Given the description of an element on the screen output the (x, y) to click on. 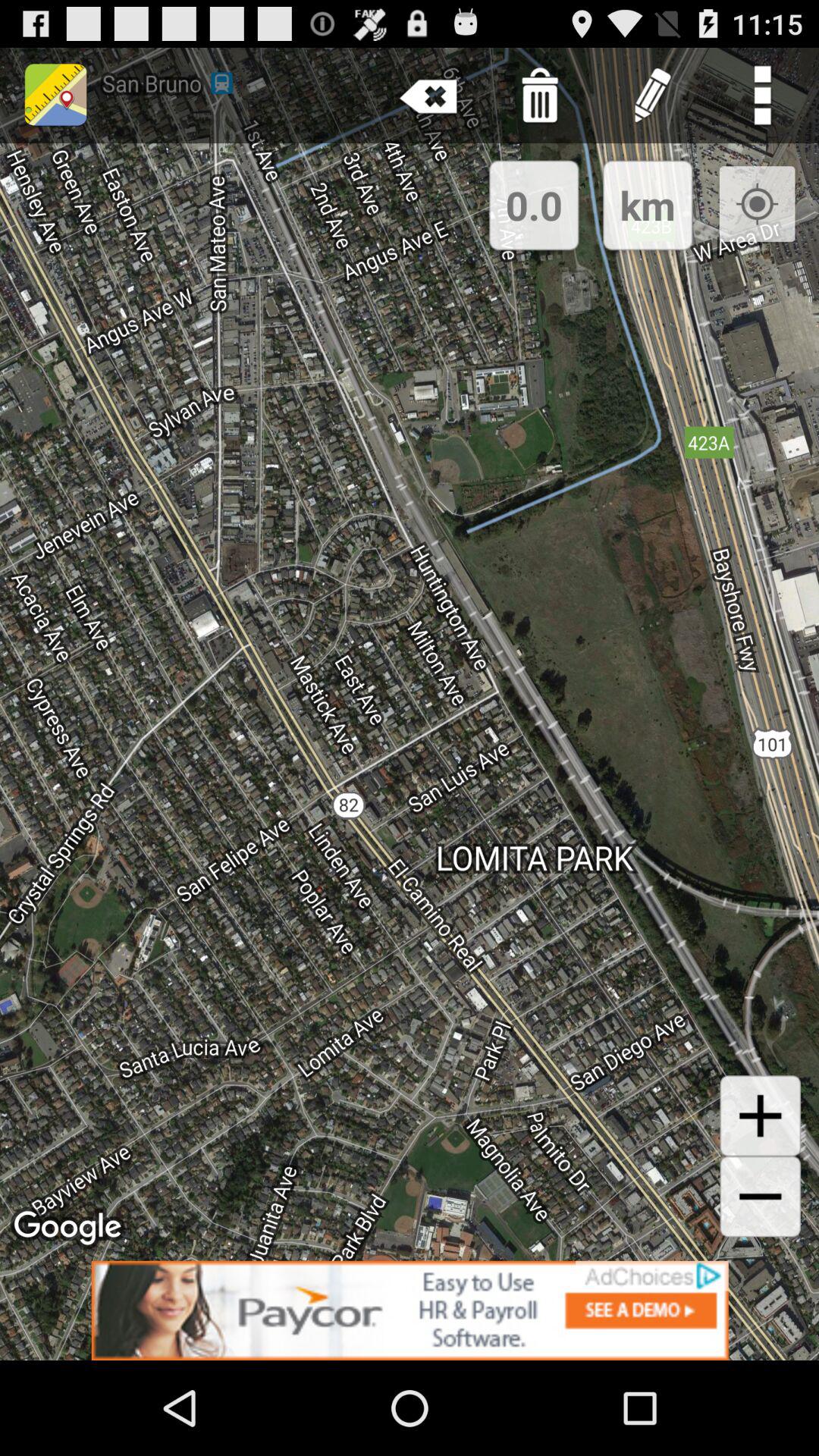
zoom out (760, 1196)
